Given the description of an element on the screen output the (x, y) to click on. 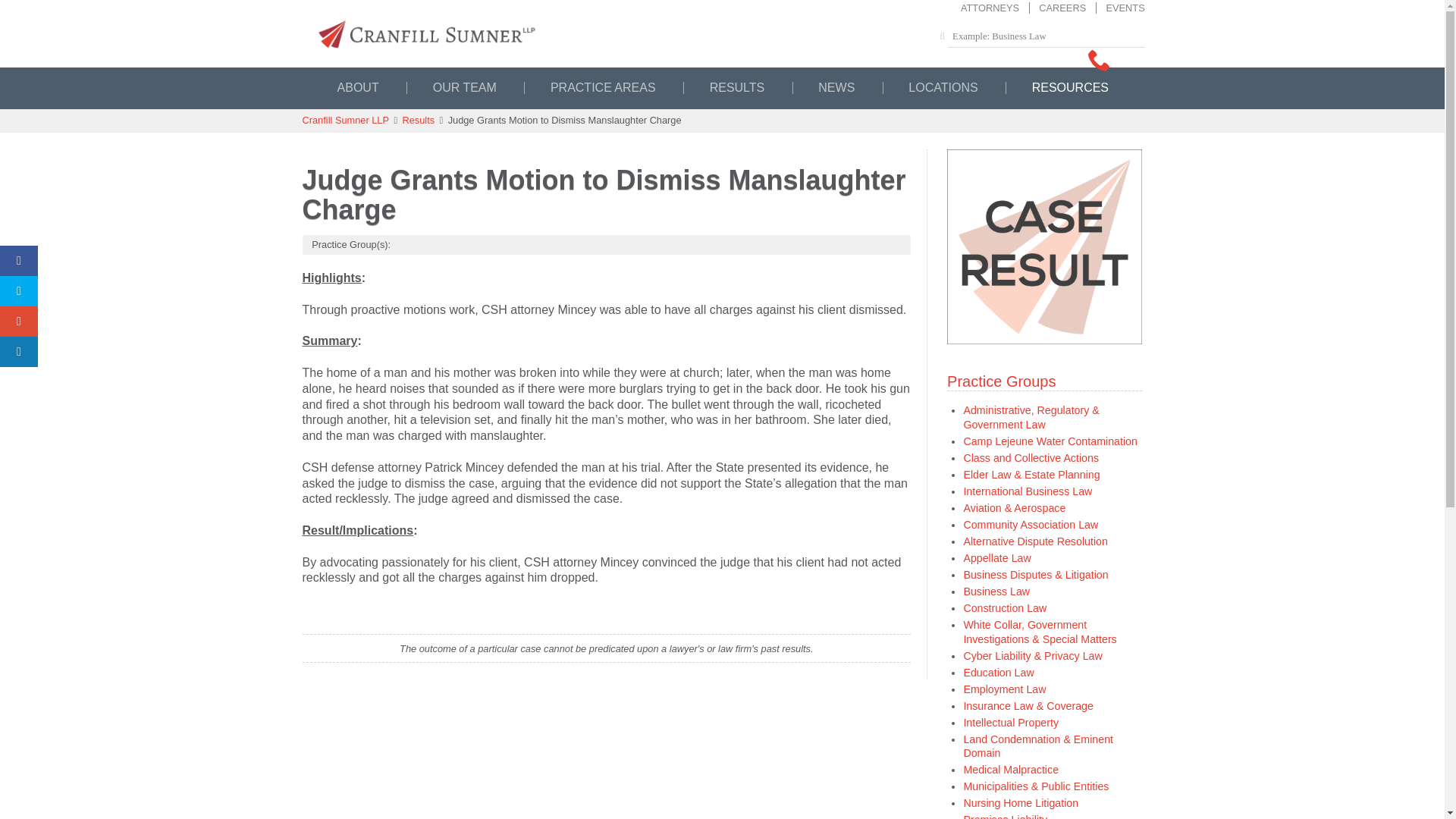
Cranfill Sumner LLP (344, 120)
International Business Law (1027, 491)
Go to Results. (417, 120)
CAREERS (1057, 7)
Results (417, 120)
Practice Groups (1001, 381)
Cranfill Sumner LLP (721, 33)
NEWS (836, 87)
PRACTICE AREAS (603, 87)
Search for: (1045, 37)
